Given the description of an element on the screen output the (x, y) to click on. 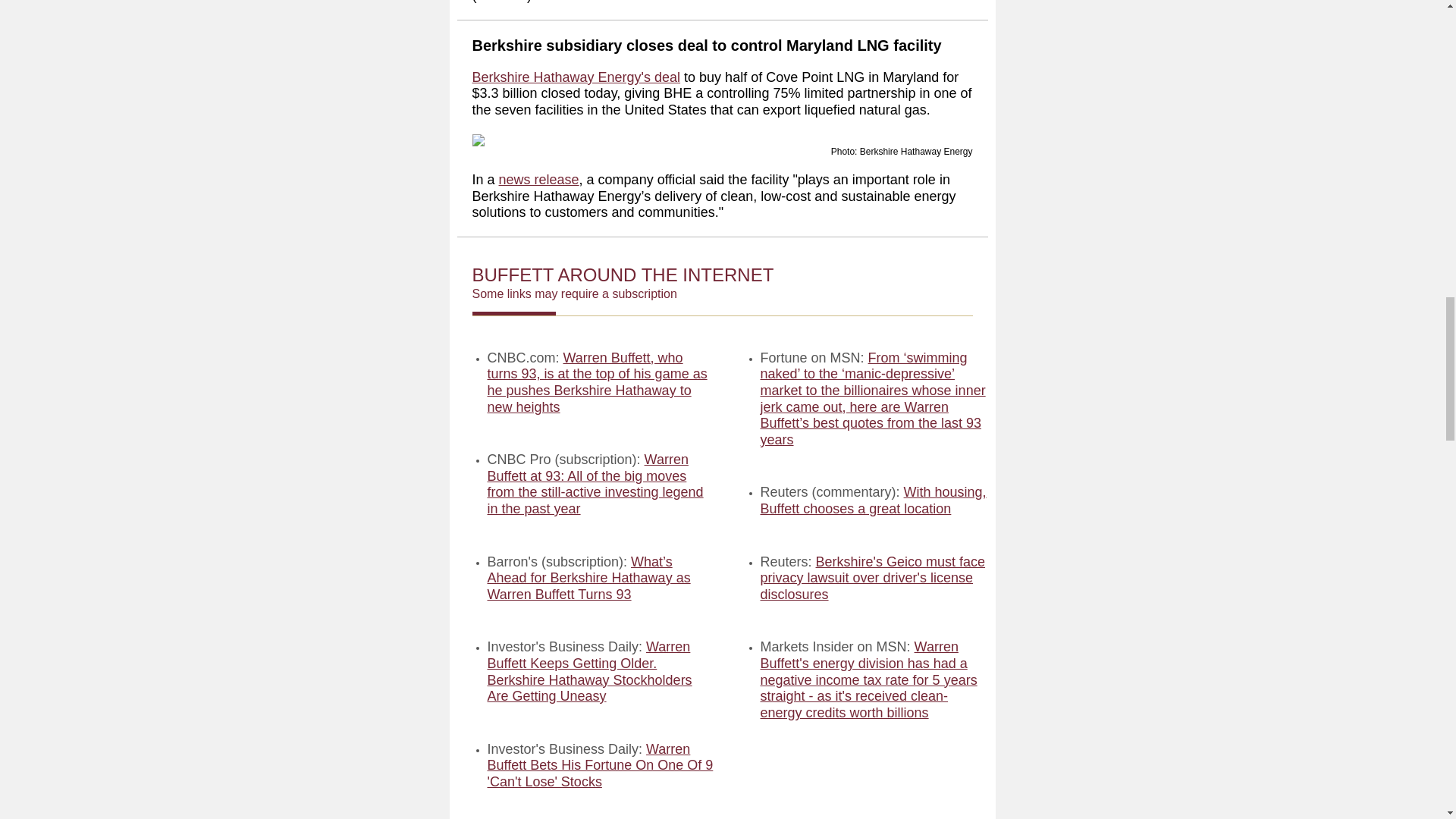
With housing, Buffett chooses a great location (872, 500)
news release (539, 179)
Berkshire Hathaway Energy's deal (575, 77)
